Given the description of an element on the screen output the (x, y) to click on. 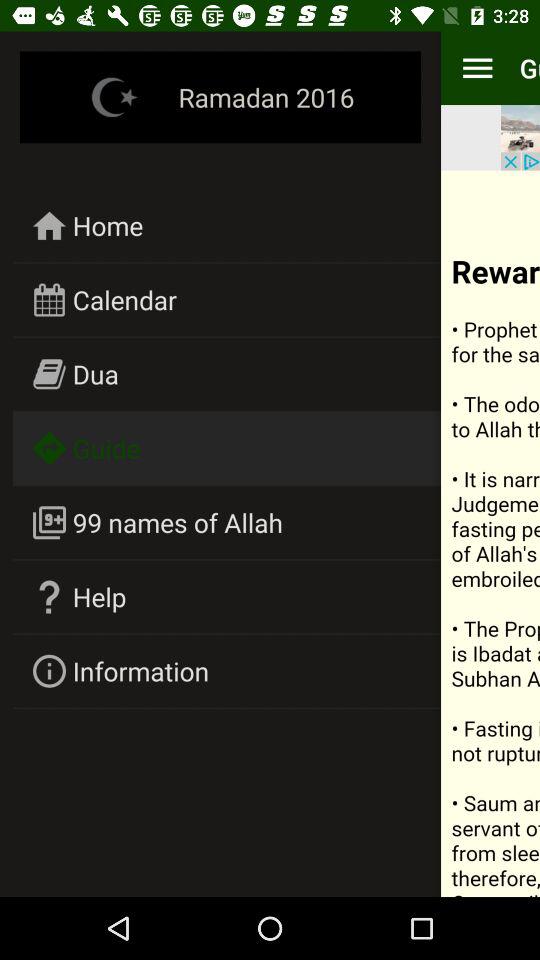
menu bar (477, 68)
